Given the description of an element on the screen output the (x, y) to click on. 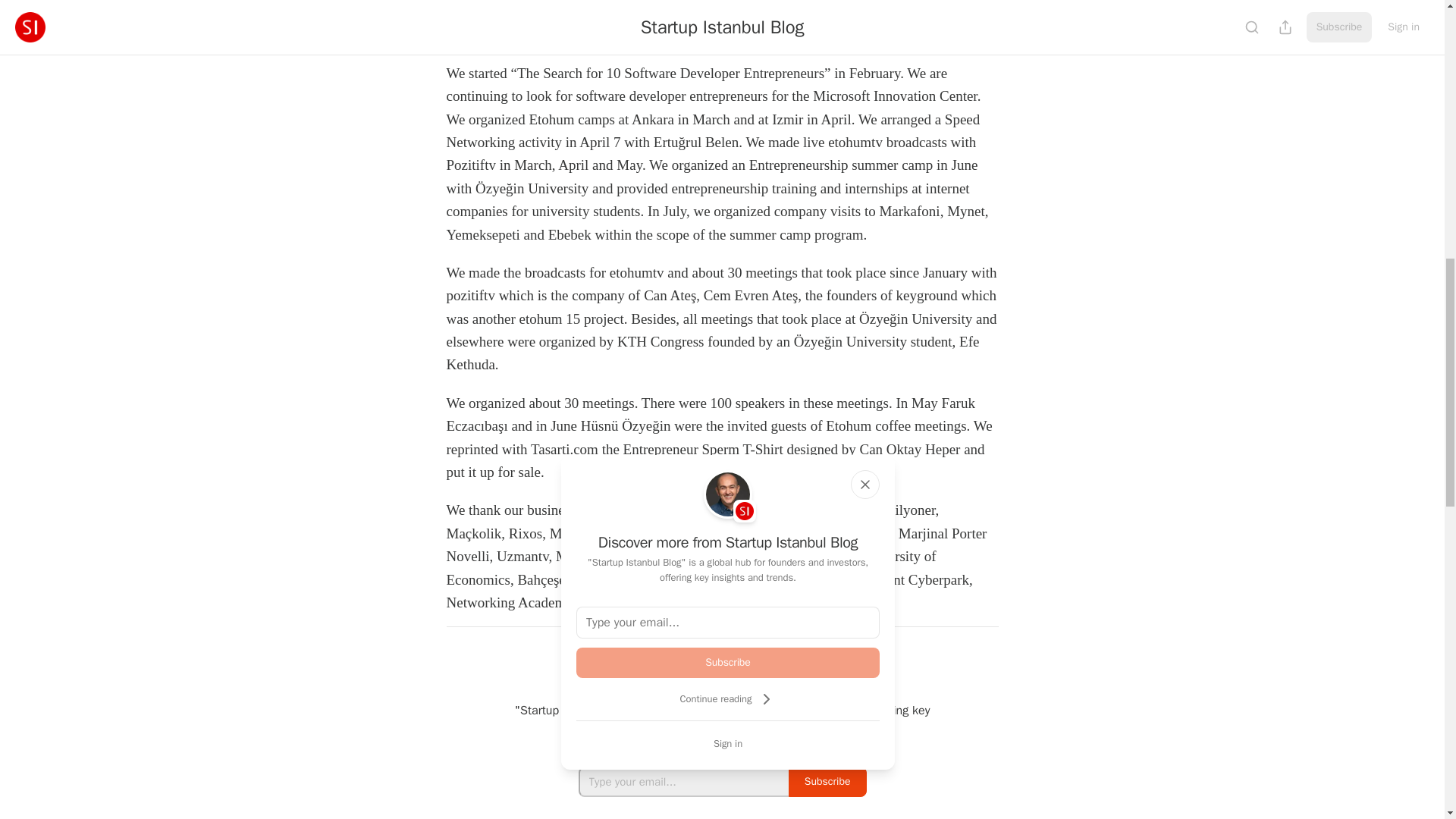
Subscribe (727, 662)
Sign in (727, 743)
Subscribe (827, 781)
